Given the description of an element on the screen output the (x, y) to click on. 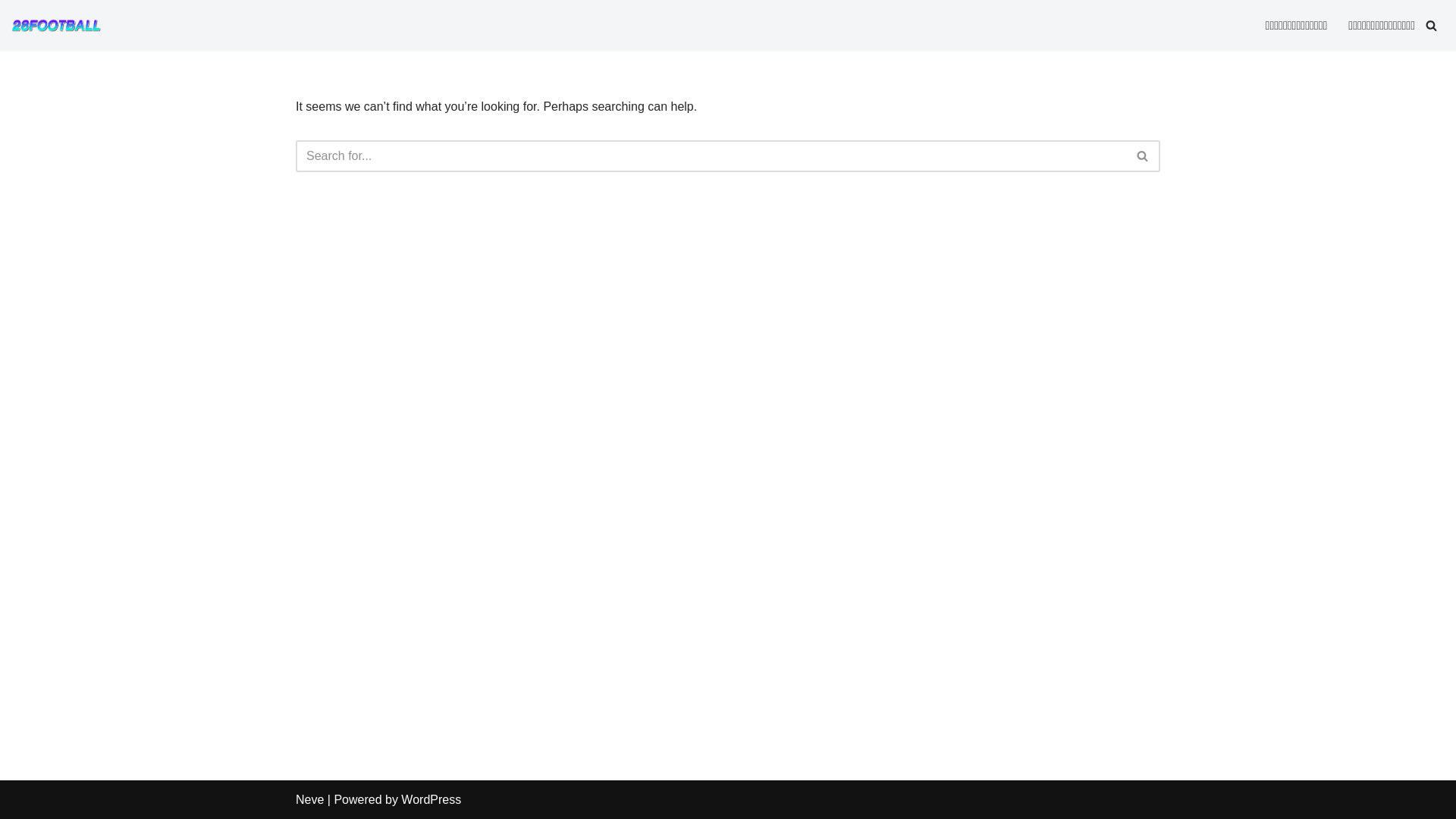
Skip to content Element type: text (11, 31)
Neve Element type: text (309, 799)
WordPress Element type: text (431, 799)
